Given the description of an element on the screen output the (x, y) to click on. 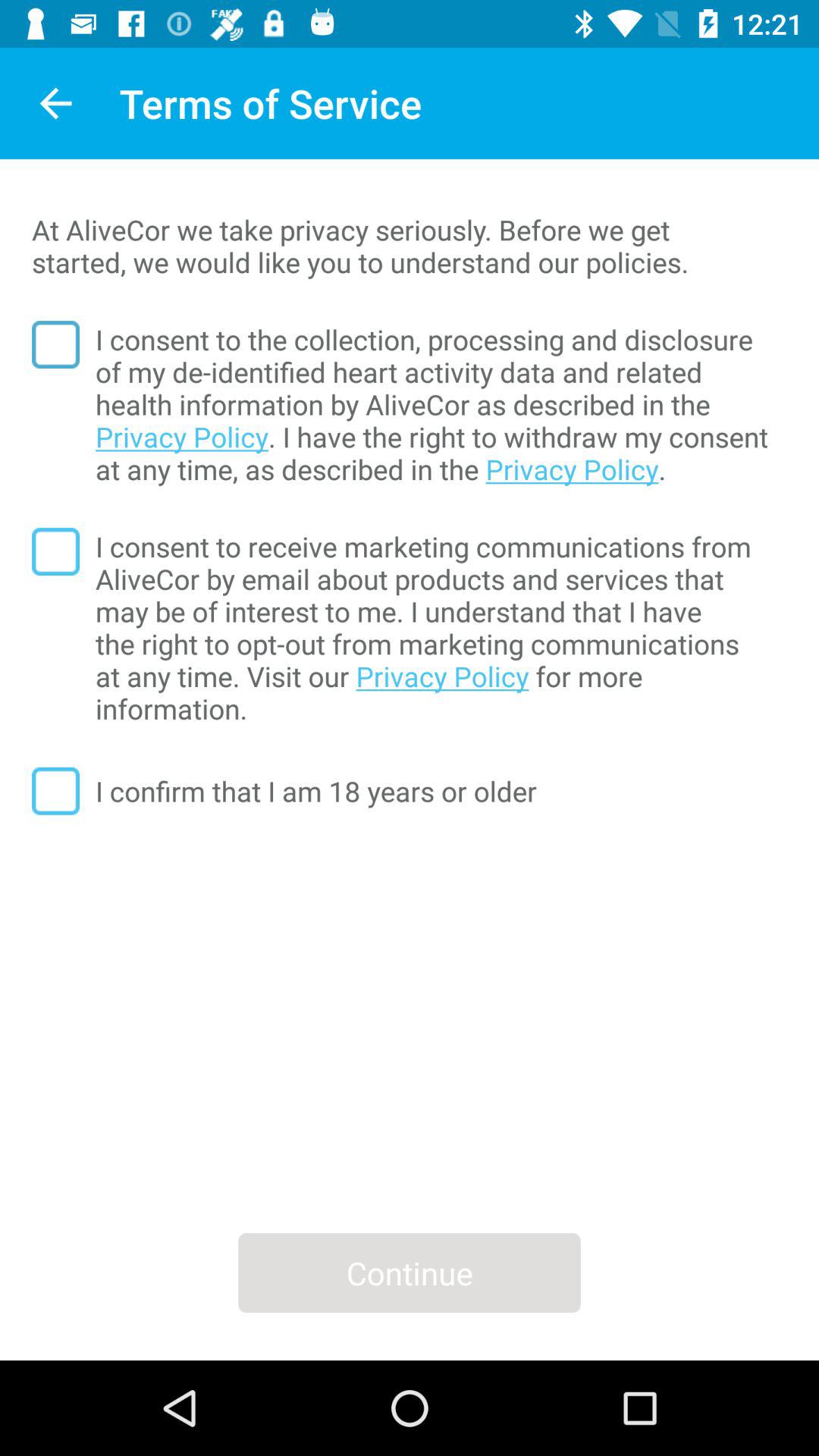
scroll until continue icon (409, 1272)
